Given the description of an element on the screen output the (x, y) to click on. 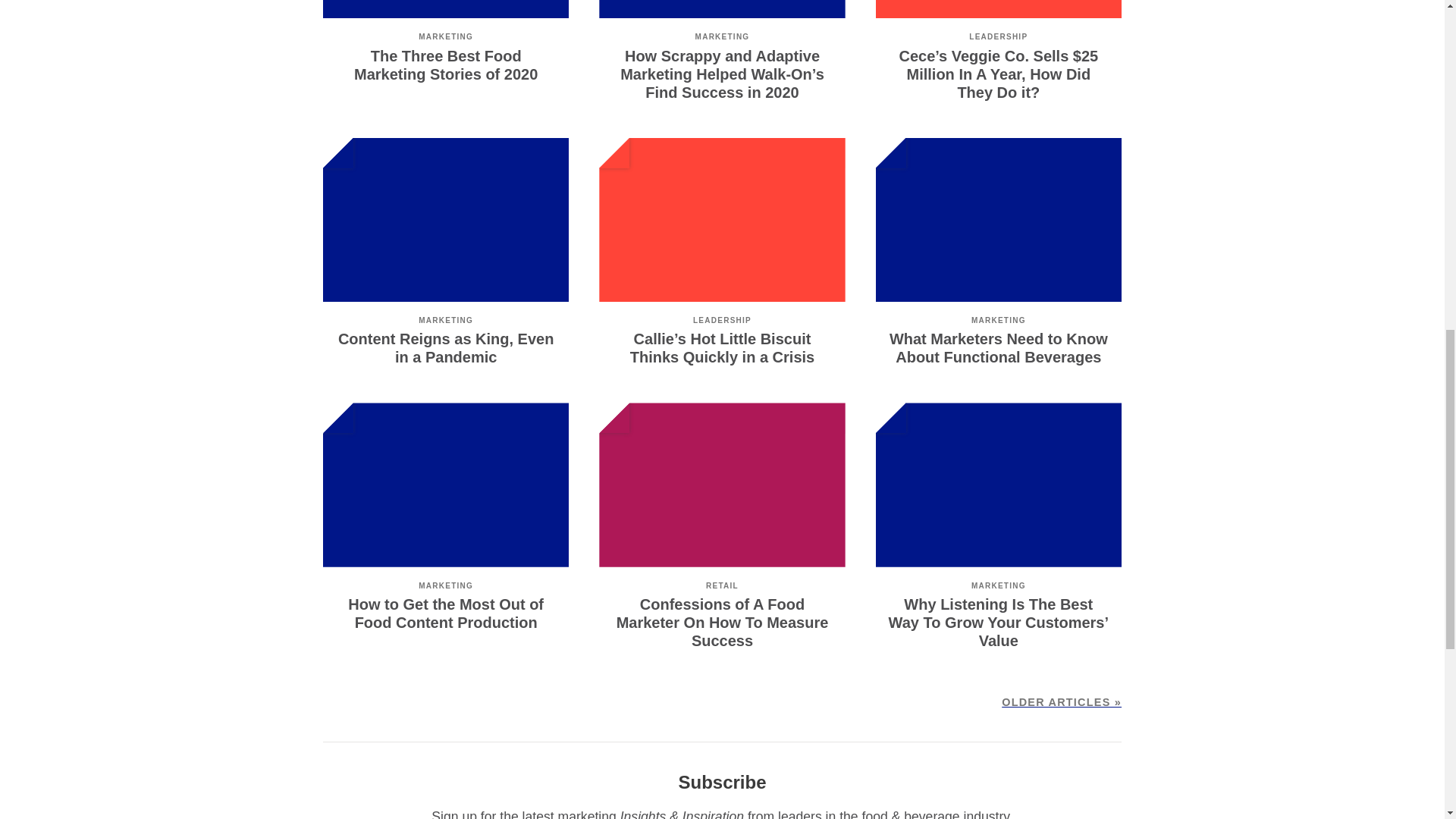
Content Reigns as King, Even in a Pandemic (445, 347)
MARKETING (446, 320)
MARKETING (446, 36)
MARKETING (722, 36)
The Three Best Food Marketing Stories of 2020 (445, 64)
LEADERSHIP (998, 36)
